Given the description of an element on the screen output the (x, y) to click on. 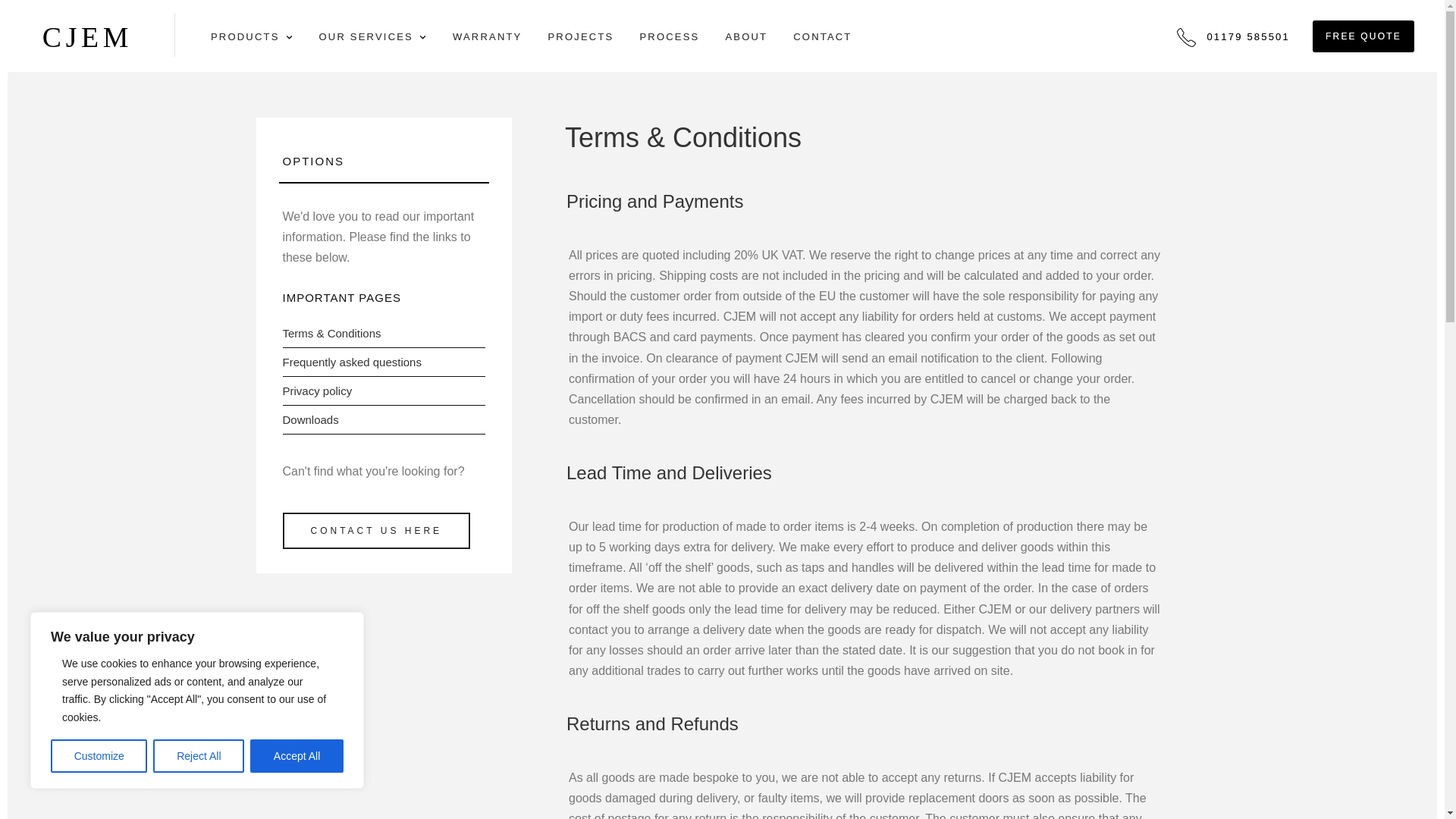
PROCESS (668, 38)
CONTACT (822, 38)
Frequently asked questions (351, 361)
WARRANTY (487, 38)
Reject All (198, 756)
PROJECTS (580, 38)
Accept All (296, 756)
ABOUT (745, 38)
FREE QUOTE (1363, 38)
OUR SERVICES (372, 38)
PRODUCTS (252, 38)
Customize (98, 756)
